Given the description of an element on the screen output the (x, y) to click on. 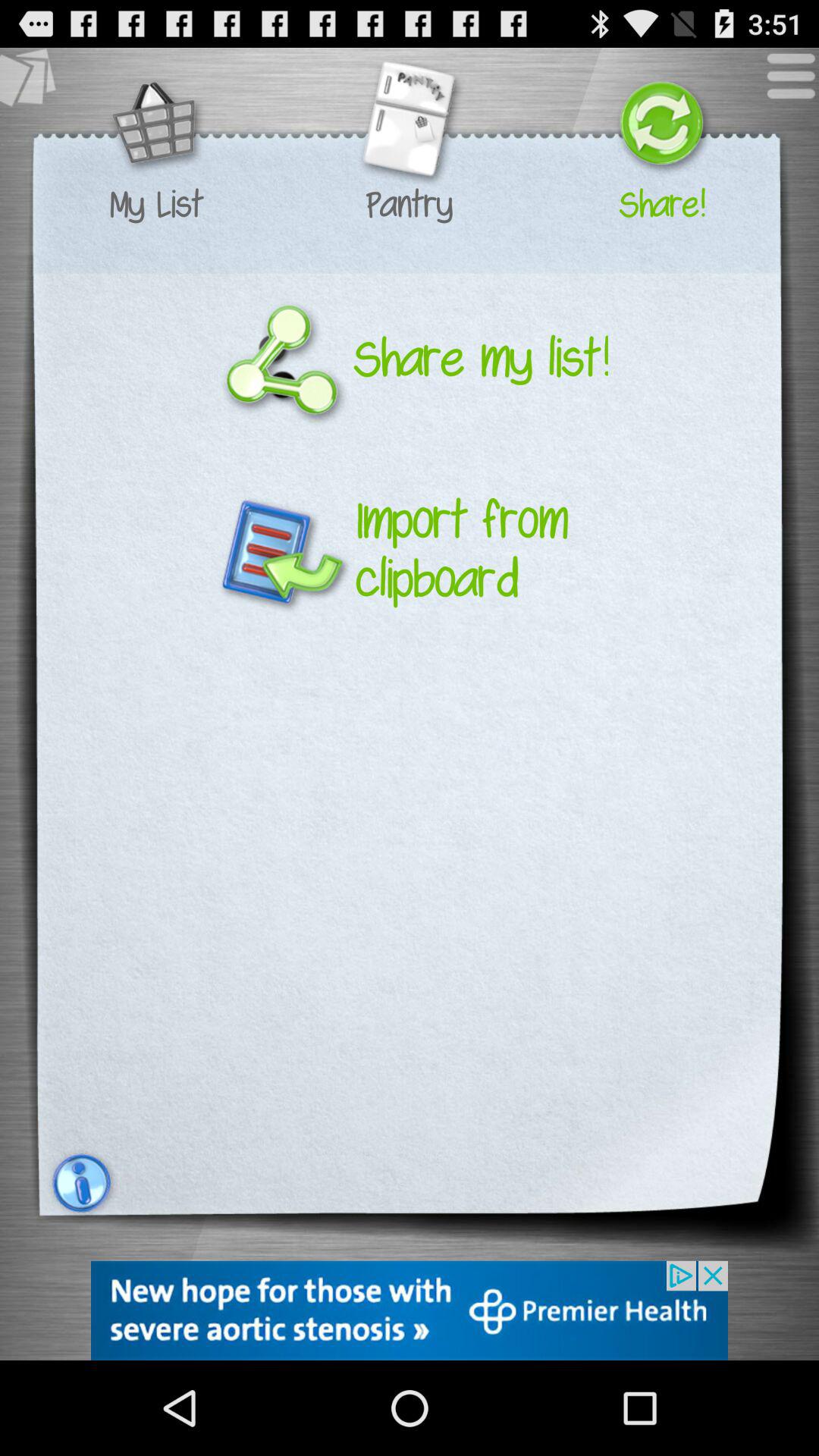
informations (79, 1182)
